Given the description of an element on the screen output the (x, y) to click on. 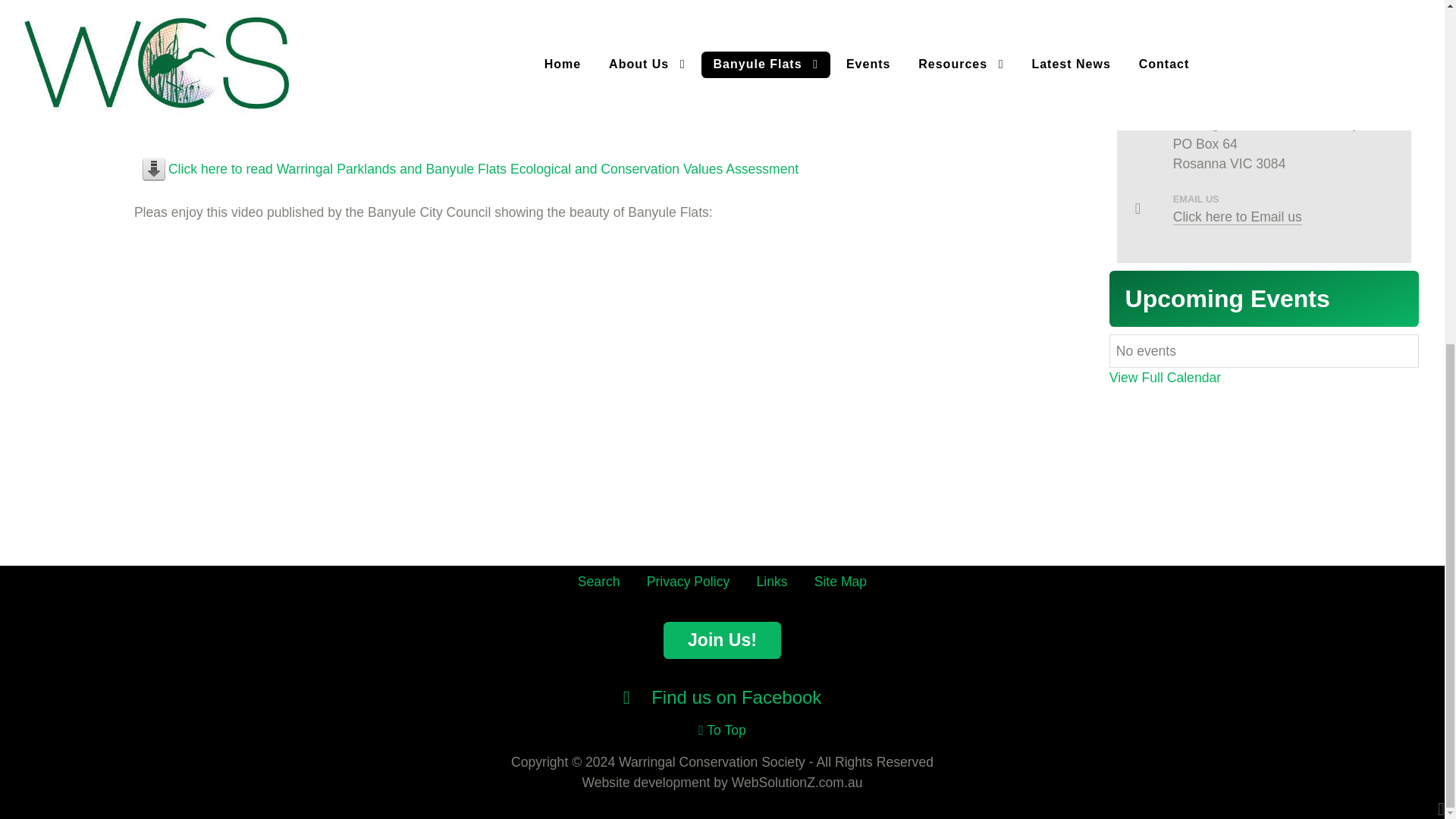
Click here to Email us (1237, 216)
Search (599, 581)
WebSolutionZ.com.au (797, 782)
Links (771, 581)
Site Map (839, 581)
Privacy Policy (688, 581)
Find us on Facebook (722, 697)
Join Us! (721, 640)
Click here to download a map of Banyule Flats (306, 118)
To Top (721, 729)
Find us on Facebook (722, 697)
View Full Calendar (1165, 377)
